Given the description of an element on the screen output the (x, y) to click on. 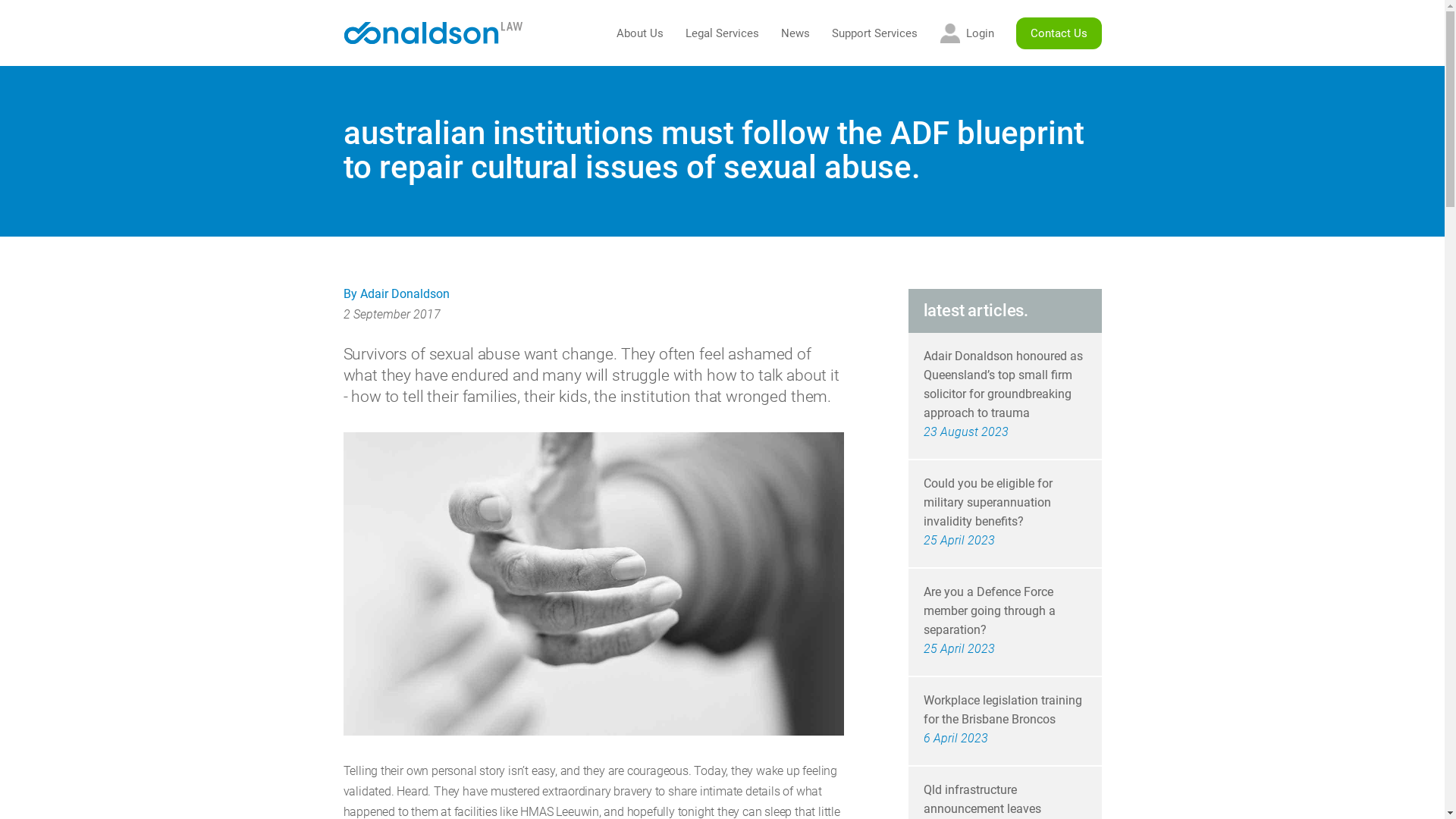
Support Services Element type: text (873, 32)
News Element type: text (795, 32)
About Us Element type: text (638, 32)
Login Element type: text (965, 32)
Contact Us Element type: text (1058, 33)
Donaldson Law Element type: text (433, 32)
Legal Services Element type: text (722, 32)
